Given the description of an element on the screen output the (x, y) to click on. 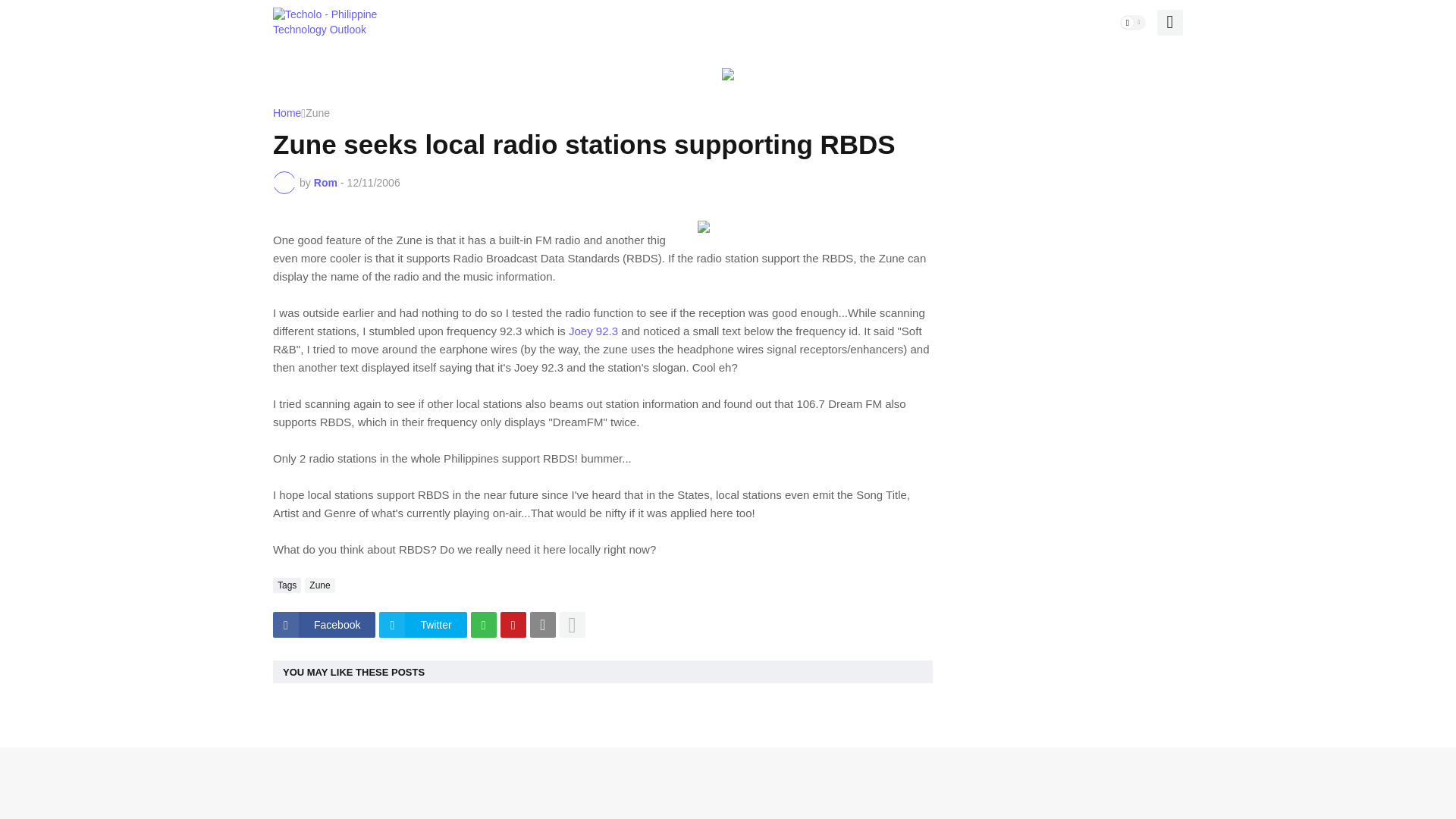
Pinterest (512, 624)
Zune (319, 585)
Joey 92.3 (595, 330)
Facebook (324, 624)
Techolo - Philippine Technology Outlook Blog (326, 22)
WhatsApp (483, 624)
Twitter (421, 624)
Home (287, 113)
Facebook (324, 624)
Search (1169, 22)
